Given the description of an element on the screen output the (x, y) to click on. 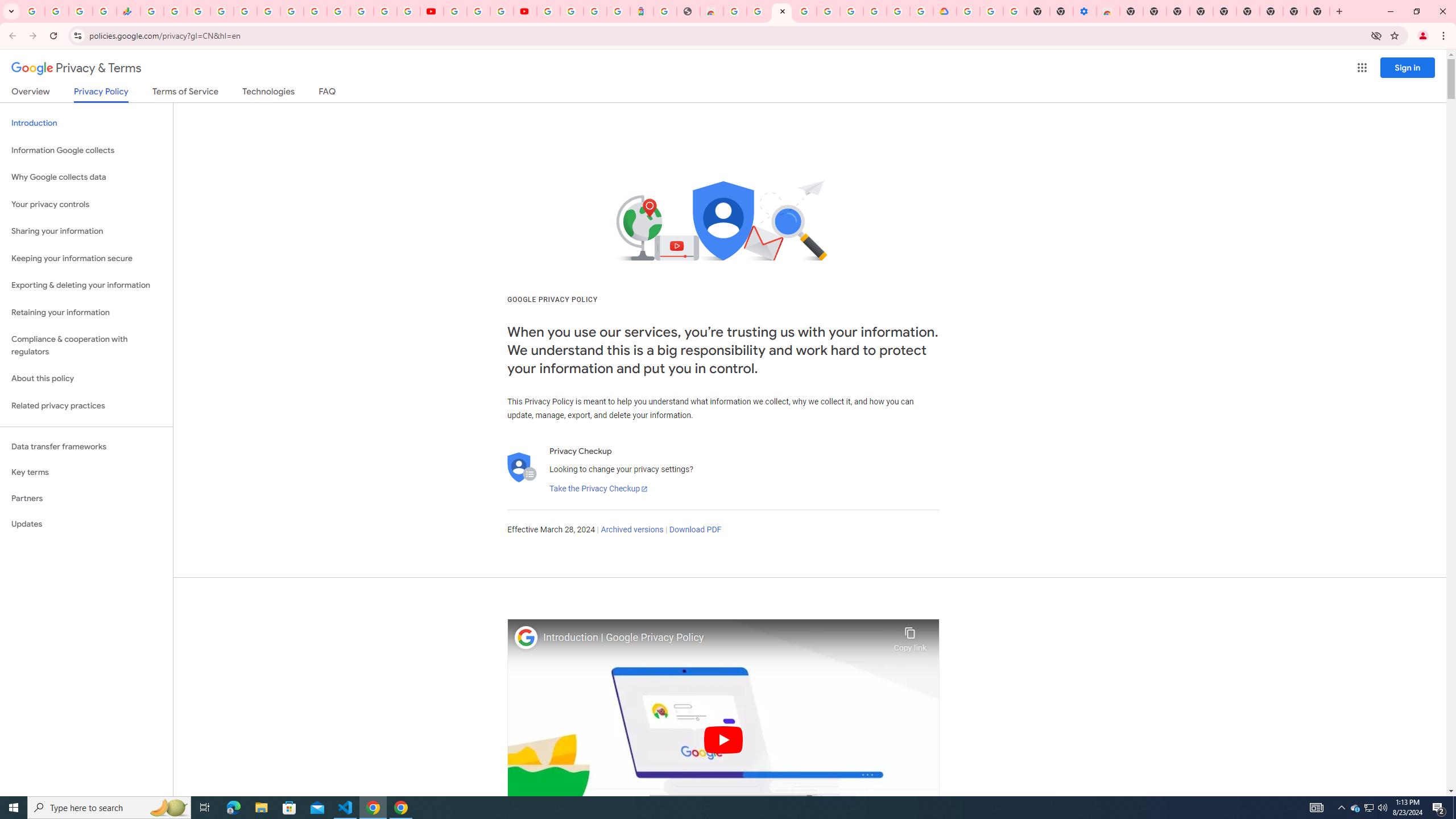
New Tab (1131, 11)
Sharing your information (86, 230)
Photo image of Google (526, 636)
